Given the description of an element on the screen output the (x, y) to click on. 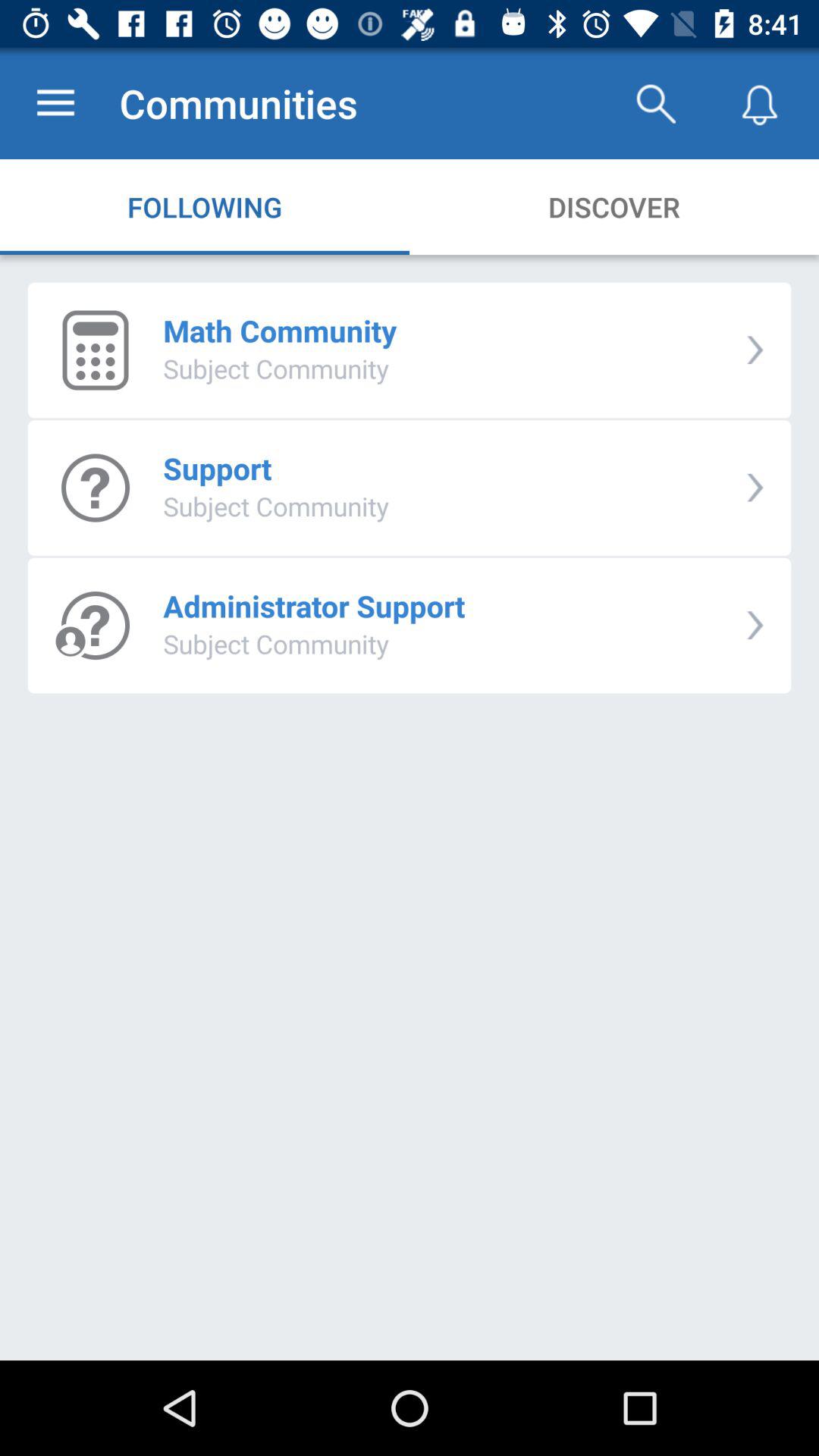
launch item next to the communities (655, 103)
